Given the description of an element on the screen output the (x, y) to click on. 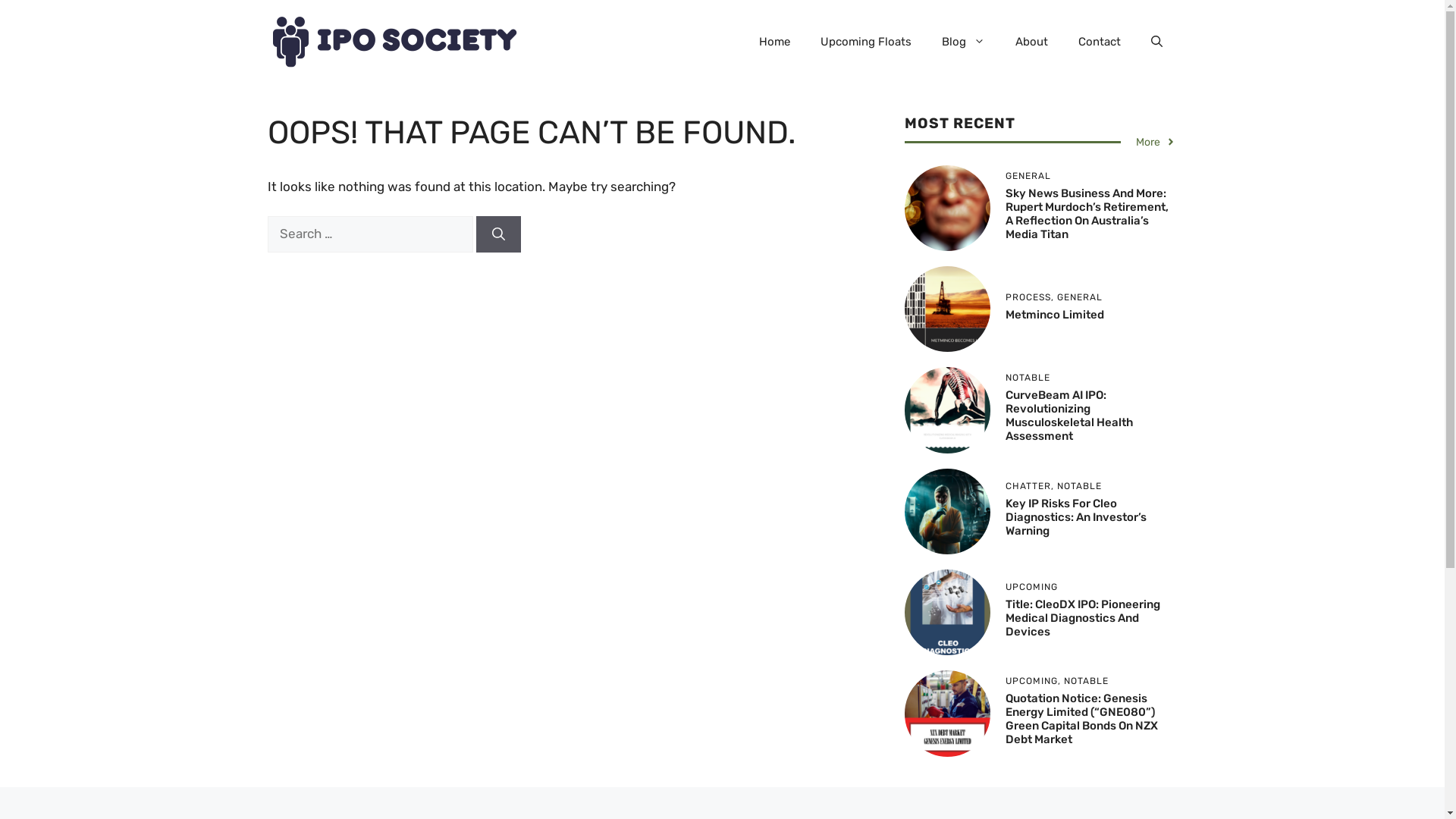
Blog Element type: text (963, 41)
Metminco Limited Element type: text (1054, 314)
Contact Element type: text (1099, 41)
About Element type: text (1030, 41)
Search for: Element type: hover (369, 234)
Home Element type: text (773, 41)
More Element type: text (1155, 142)
Upcoming Floats Element type: text (865, 41)
